Given the description of an element on the screen output the (x, y) to click on. 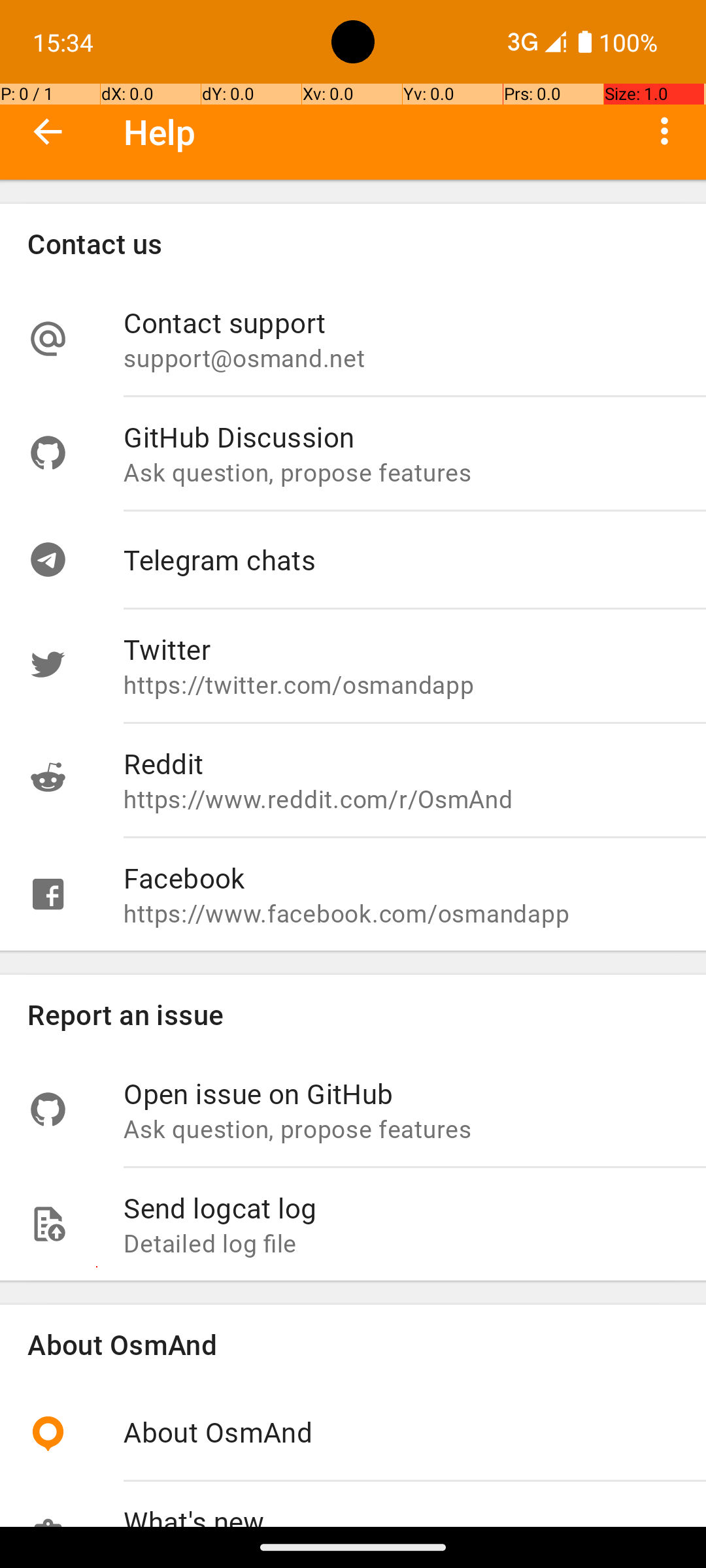
Help Element type: android.widget.TextView (159, 131)
More actions Element type: android.widget.Button (664, 131)
Contact us Element type: android.widget.TextView (352, 242)
Contact support Element type: android.widget.TextView (400, 322)
support@osmand.net Element type: android.widget.TextView (400, 357)
GitHub Discussion Element type: android.widget.TextView (400, 436)
Ask question, propose features Element type: android.widget.TextView (400, 471)
Telegram chats Element type: android.widget.TextView (400, 559)
Twitter Element type: android.widget.TextView (400, 648)
https://twitter.com/osmandapp Element type: android.widget.TextView (400, 684)
Reddit Element type: android.widget.TextView (400, 763)
https://www.reddit.com/r/OsmAnd Element type: android.widget.TextView (400, 798)
Facebook Element type: android.widget.TextView (400, 877)
https://www.facebook.com/osmandapp Element type: android.widget.TextView (400, 912)
Report an issue Element type: android.widget.TextView (352, 1013)
Open issue on GitHub Element type: android.widget.TextView (400, 1092)
Send logcat log Element type: android.widget.TextView (400, 1207)
Detailed log file Element type: android.widget.TextView (400, 1242)
About OsmAnd Element type: android.widget.TextView (352, 1343)
What's new Element type: android.widget.TextView (400, 1514)
